Given the description of an element on the screen output the (x, y) to click on. 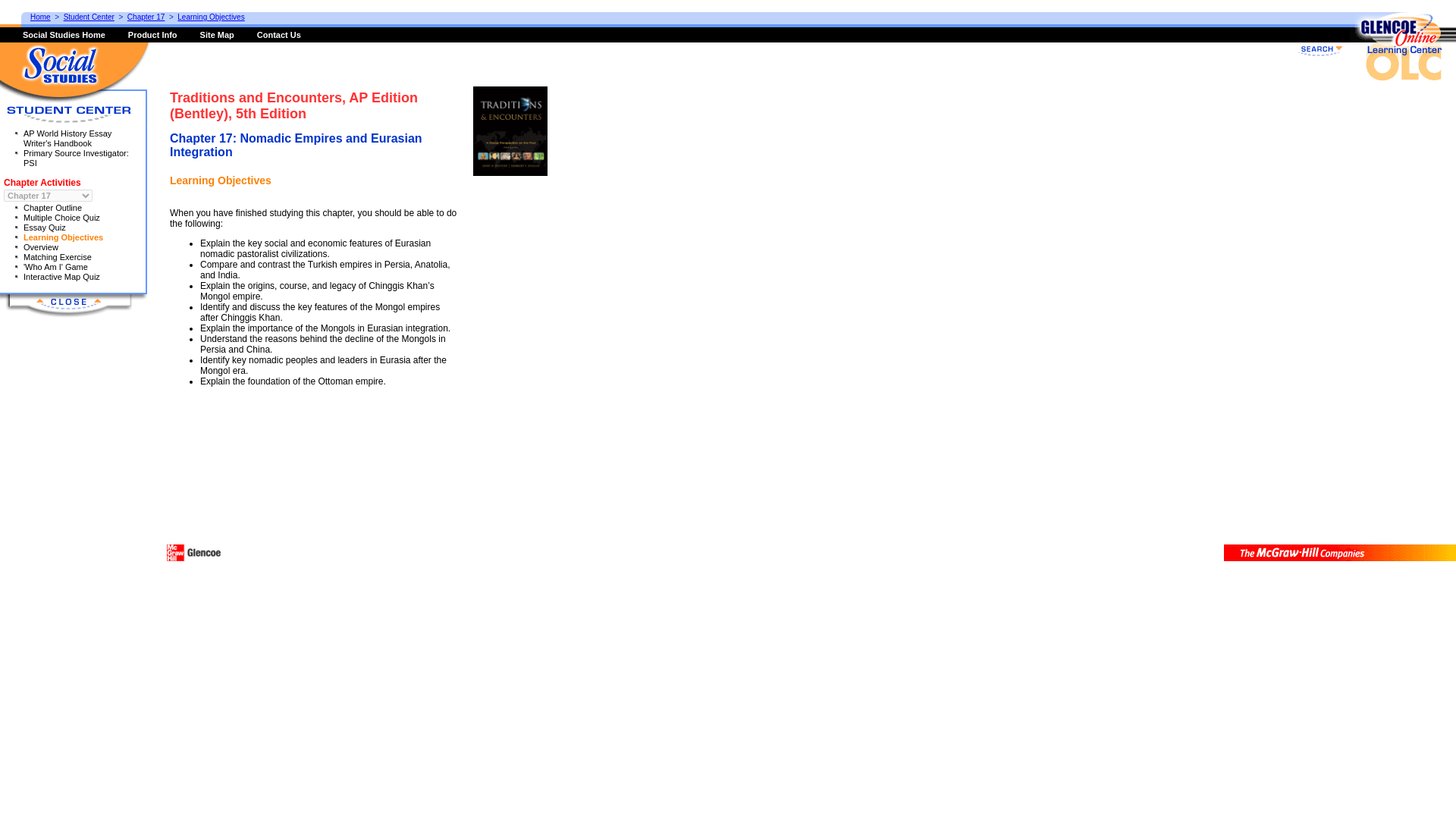
Interactive Map Quiz (61, 276)
Essay Quiz (44, 226)
'Who Am I' Game (55, 266)
Chapter Outline (52, 207)
Multiple Choice Quiz (61, 216)
Primary Source Investigator: PSI (76, 157)
Overview (40, 246)
AP World History Essay Writer's Handbook (67, 138)
Learning Objectives (63, 236)
Matching Exercise (57, 256)
